Given the description of an element on the screen output the (x, y) to click on. 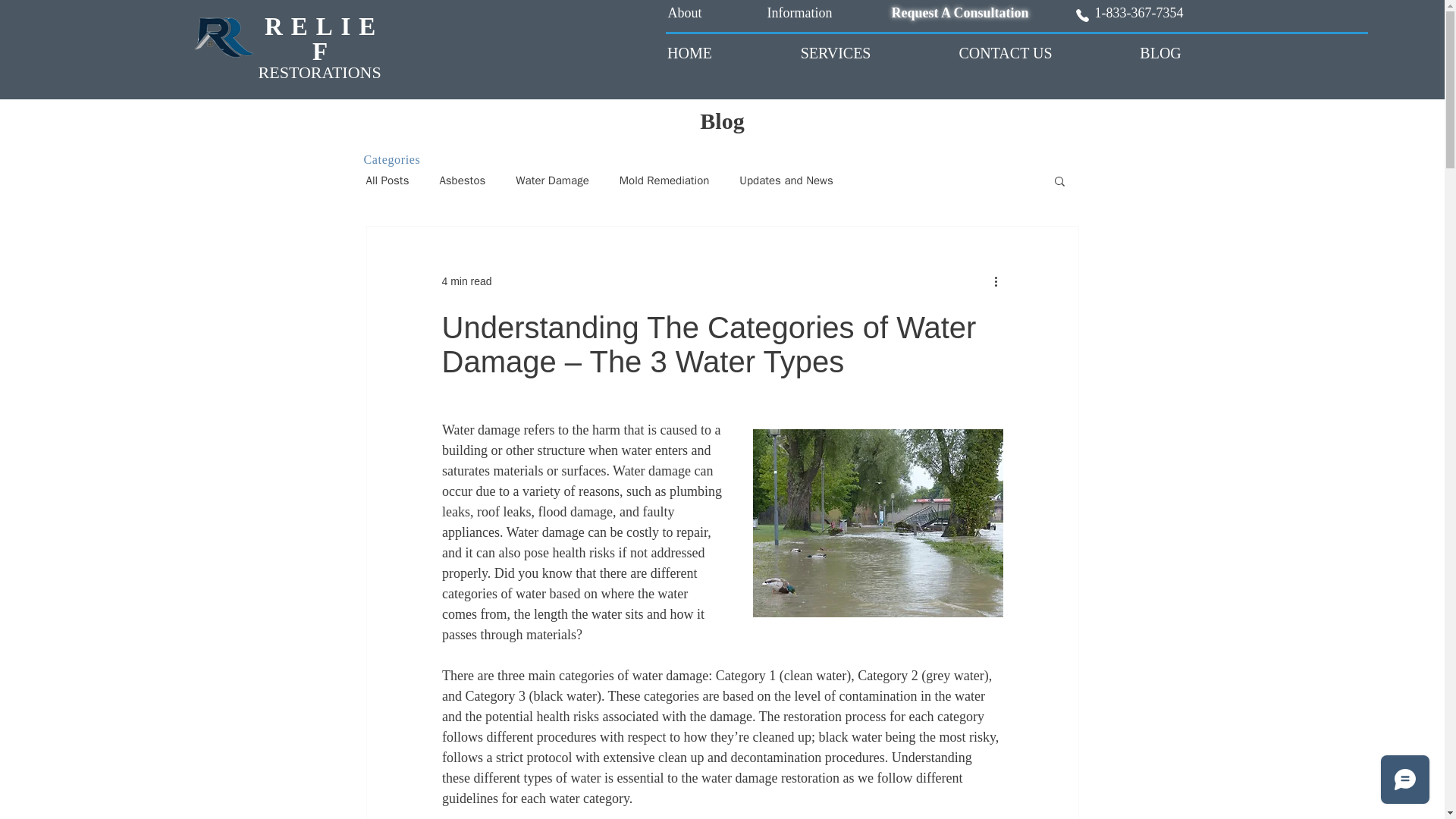
About (684, 12)
Information (799, 12)
Mold Remediation (665, 179)
Updates and News (785, 179)
Asbestos (461, 179)
CONTACT US (1005, 53)
BLOG (1160, 53)
RESTORATIONS (320, 72)
RELIEF (324, 39)
All Posts (387, 179)
4 min read (466, 280)
1-833-367-7354 (1138, 12)
SERVICES (836, 53)
Water Damage (551, 179)
HOME (690, 53)
